Given the description of an element on the screen output the (x, y) to click on. 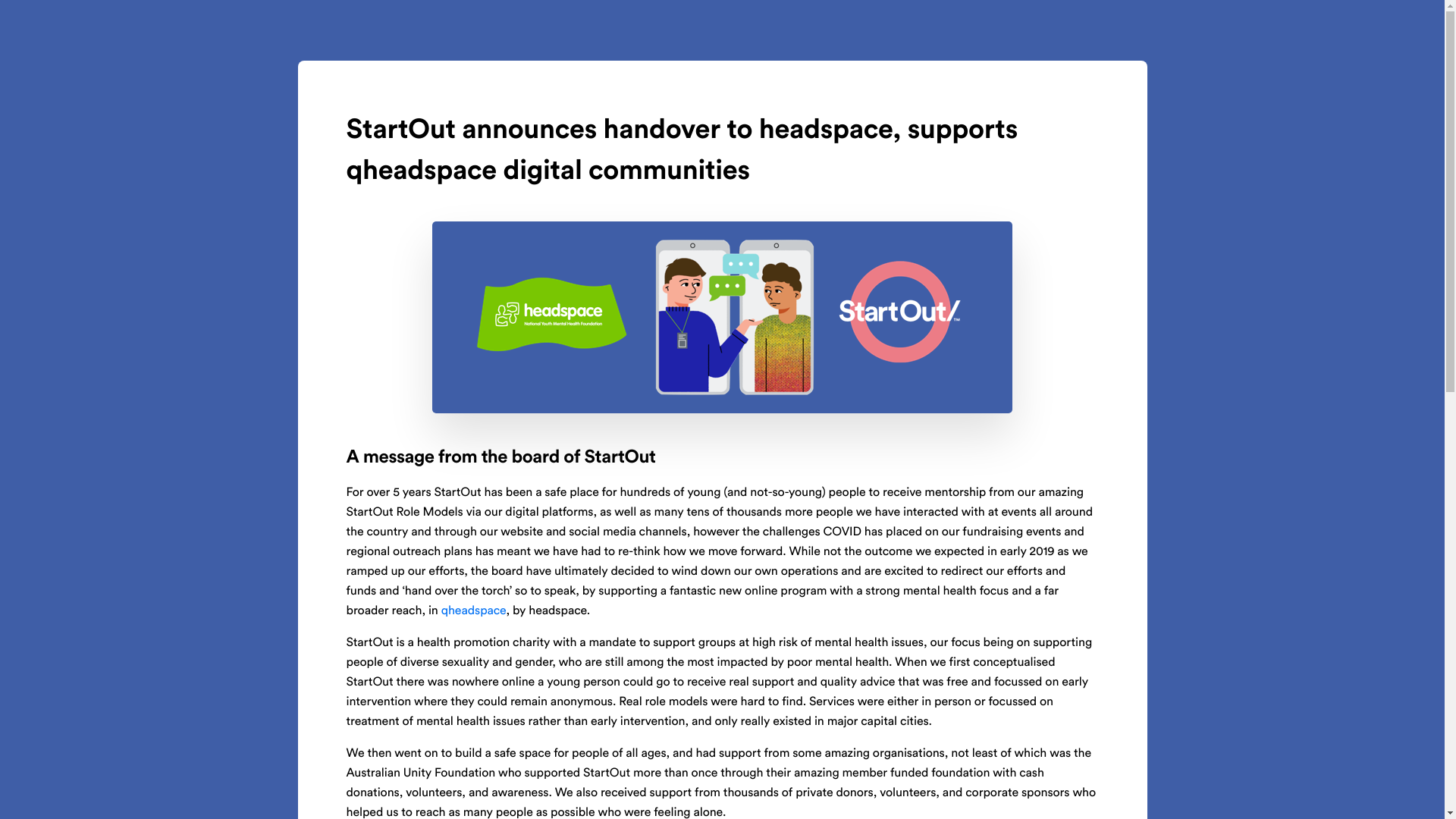
qheadspace Element type: text (473, 611)
